Given the description of an element on the screen output the (x, y) to click on. 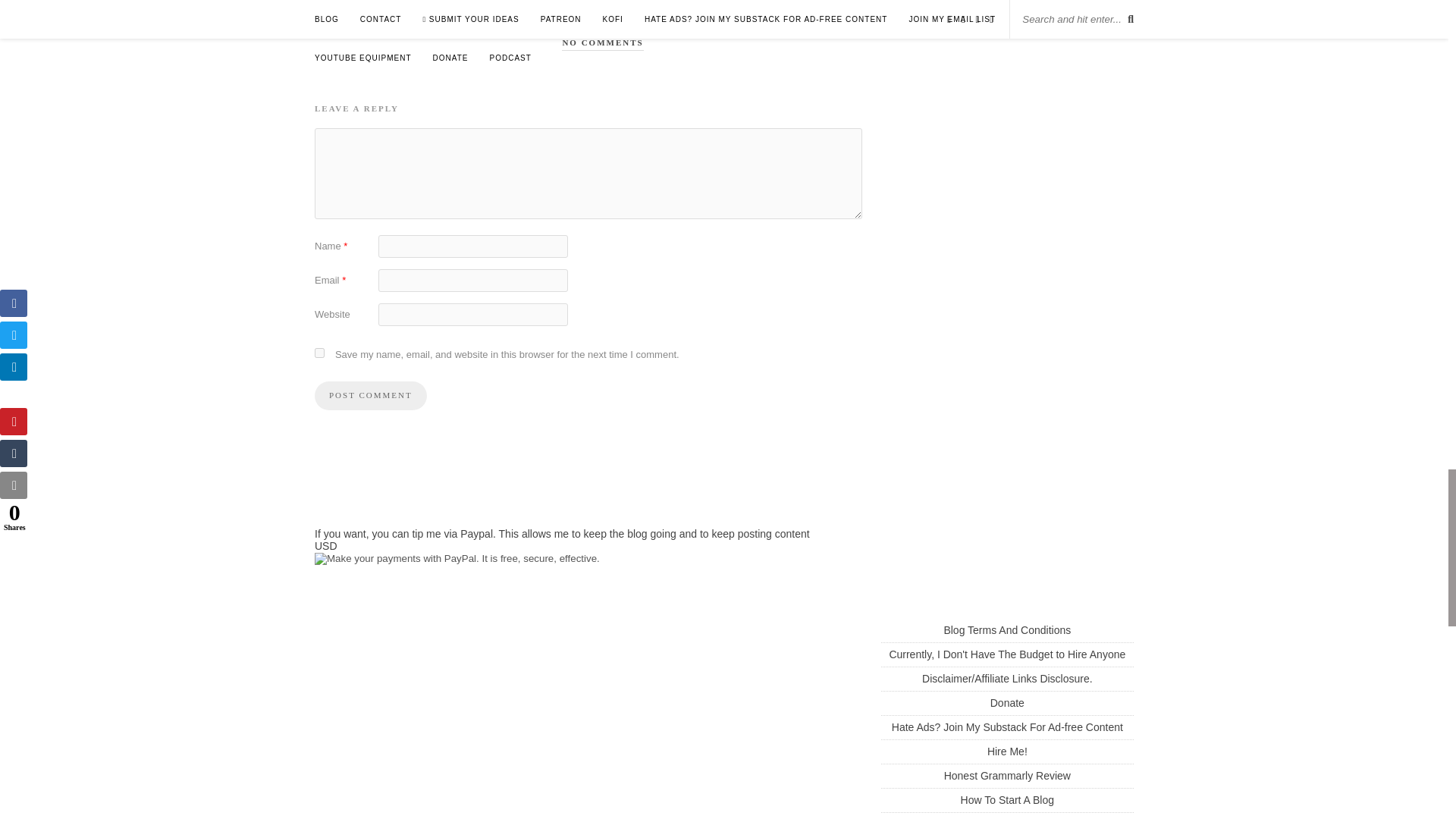
Hire Me! (1007, 751)
Currently, I Don't Have The Budget to Hire Anyone (1006, 654)
yes (319, 352)
Hate Ads? Join My Substack For Ad-free Content (1006, 727)
Blog Terms And Conditions (1006, 630)
Honest Grammarly Review (1006, 775)
Post Comment (370, 395)
Donate (1007, 702)
Post Comment (370, 395)
